Given the description of an element on the screen output the (x, y) to click on. 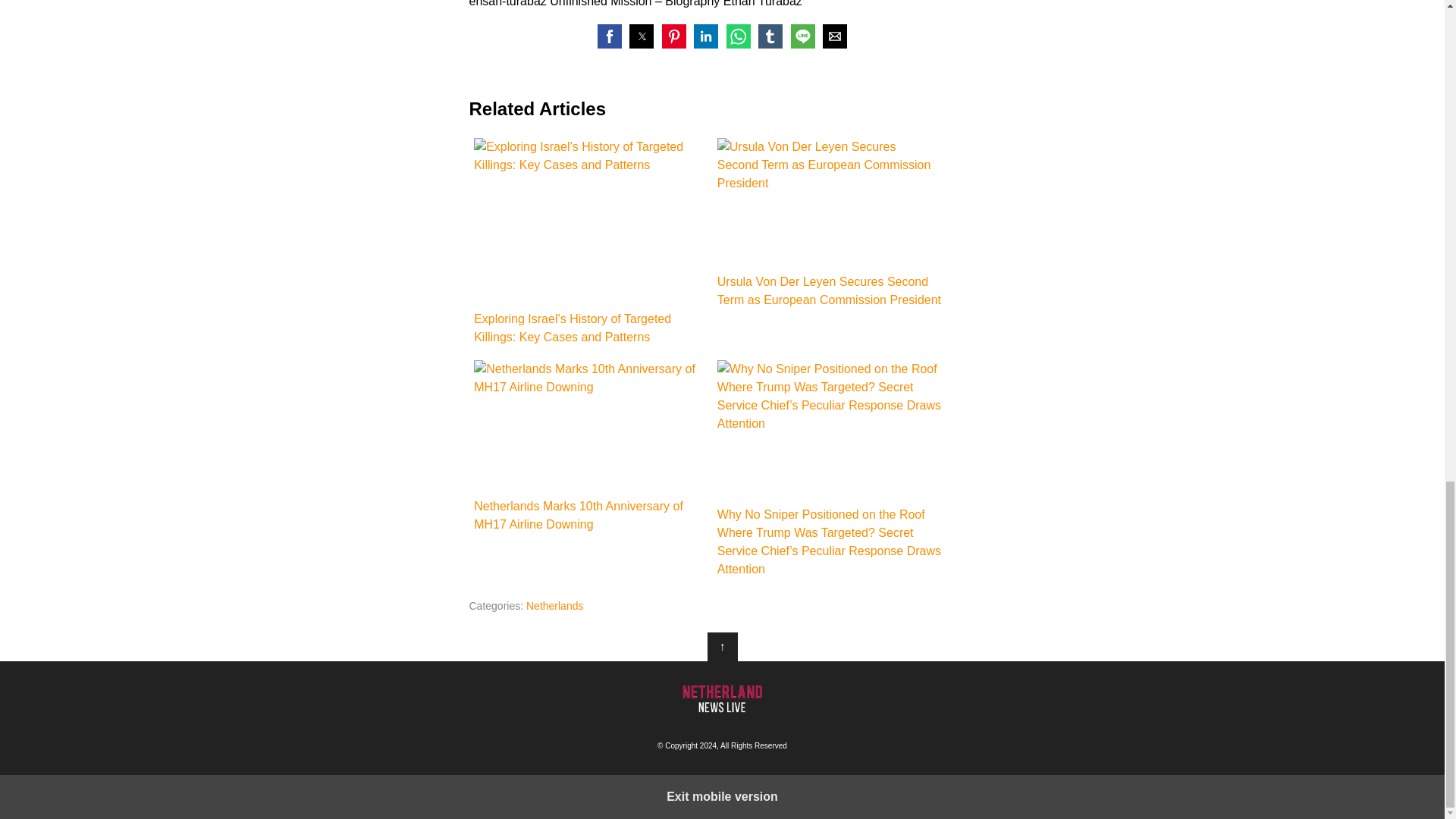
Netherlands Marks 10th Anniversary of MH17 Airline Downing (590, 425)
Netherlands (554, 605)
Netherlandsnewslive.com (721, 698)
Netherlands Marks 10th Anniversary of MH17 Airline Downing (590, 446)
